Given the description of an element on the screen output the (x, y) to click on. 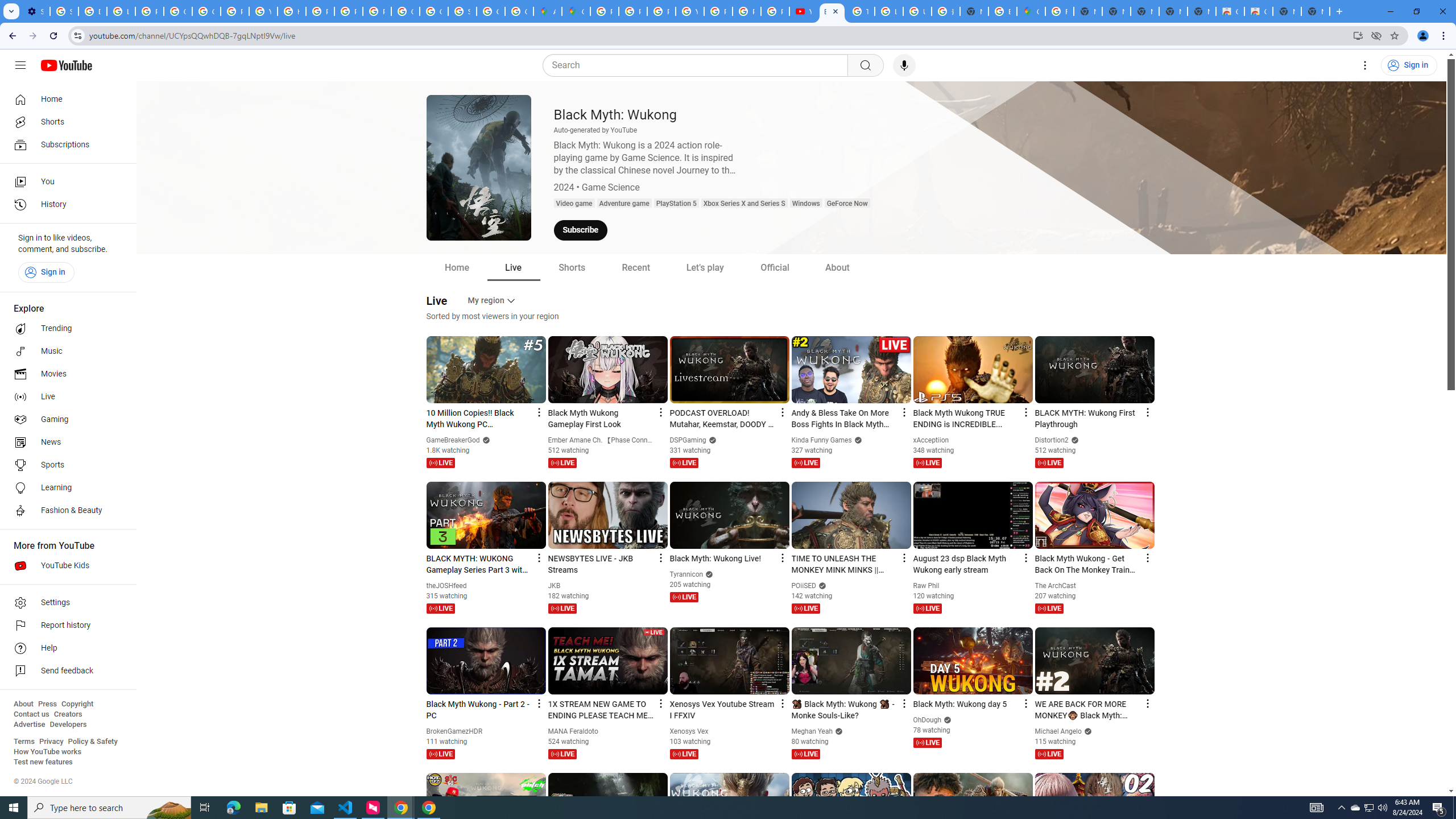
Sign in - Google Accounts (461, 11)
Creators (67, 714)
Delete photos & videos - Computer - Google Photos Help (92, 11)
Send feedback (64, 671)
Press (46, 703)
Fashion & Beauty (64, 510)
GeForce Now (847, 203)
GameBreakerGod (453, 439)
New Tab (1315, 11)
